Given the description of an element on the screen output the (x, y) to click on. 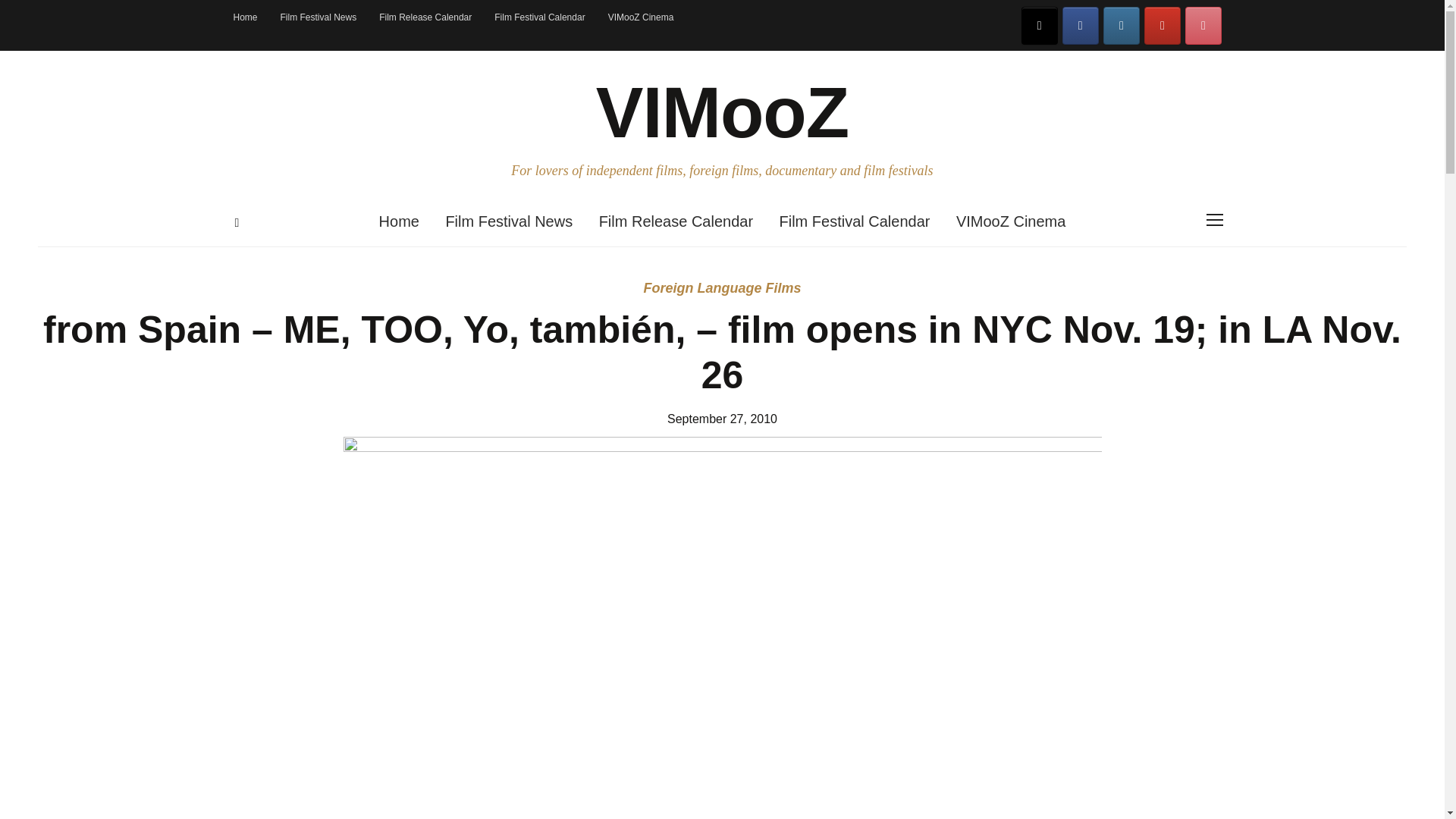
VIMooZ on X Twitter (1040, 25)
VIMooZ on Youtube (1162, 25)
VIMooZ on Instagram (1121, 25)
VIMooZ on Pinterest (1203, 25)
VIMooZ on Facebook (1080, 25)
